Given the description of an element on the screen output the (x, y) to click on. 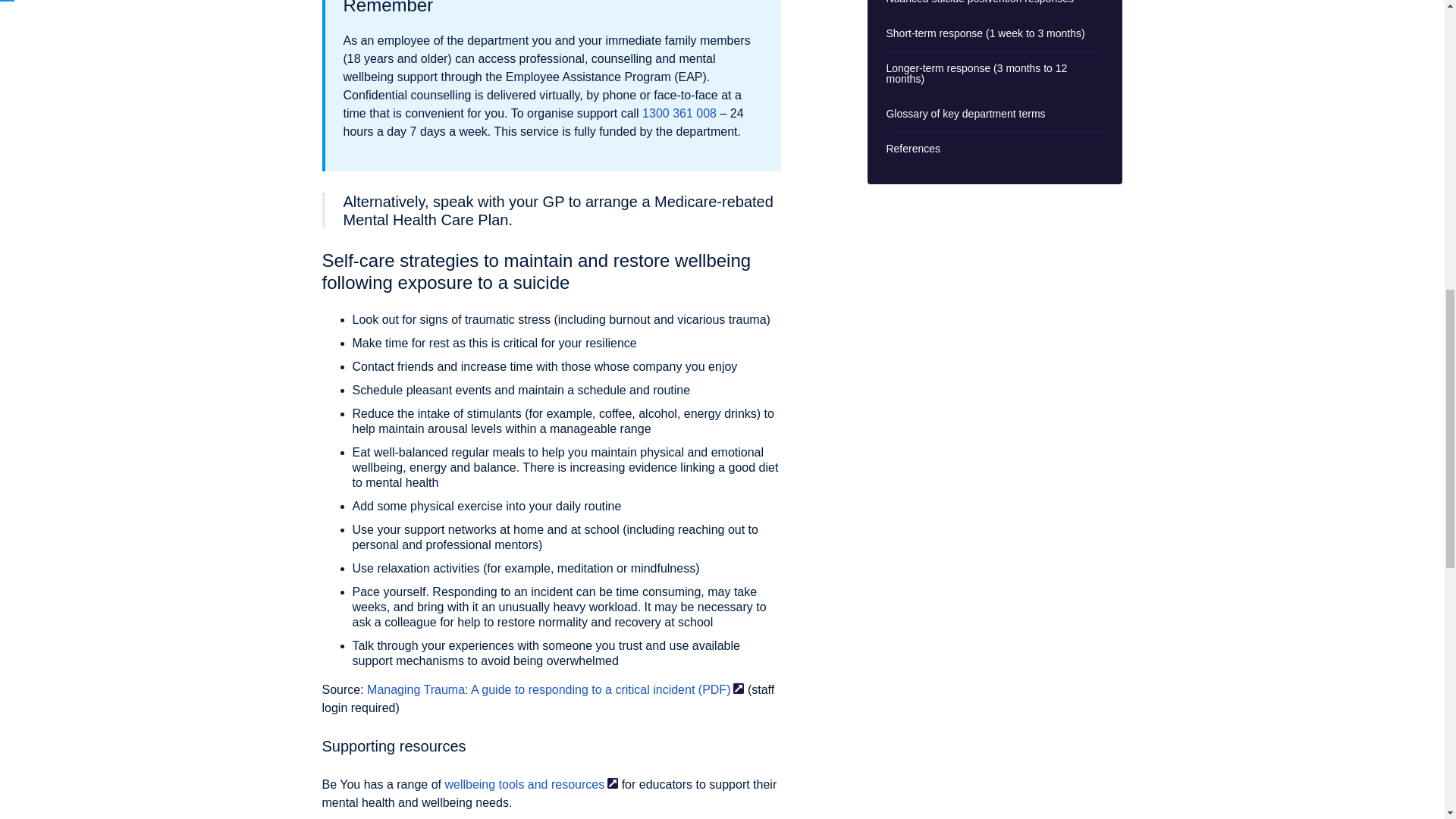
1300 361 008 (679, 113)
wellbeing tools and resourcesExternal Link (530, 784)
External Link (612, 783)
External Link (738, 688)
